Given the description of an element on the screen output the (x, y) to click on. 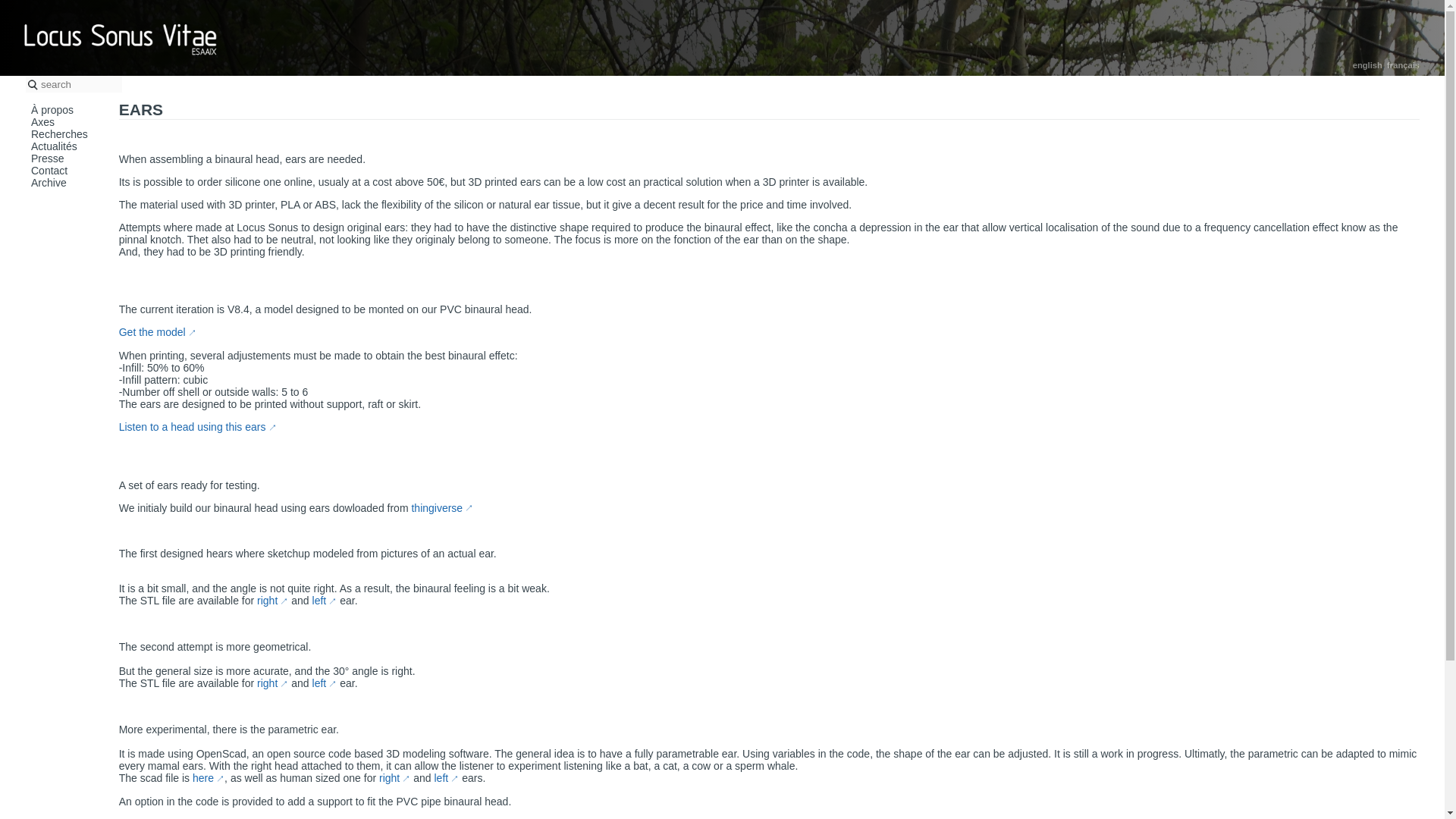
Search (21, 7)
left (325, 600)
Contact (48, 170)
Listen to a head using this ears (197, 426)
english (1366, 64)
thingiverse (441, 508)
left (445, 777)
right (272, 683)
left (325, 683)
right (272, 600)
here (208, 777)
right (394, 777)
Presse (47, 158)
Archive (48, 182)
LOCUS SONUS VITAE (120, 37)
